Given the description of an element on the screen output the (x, y) to click on. 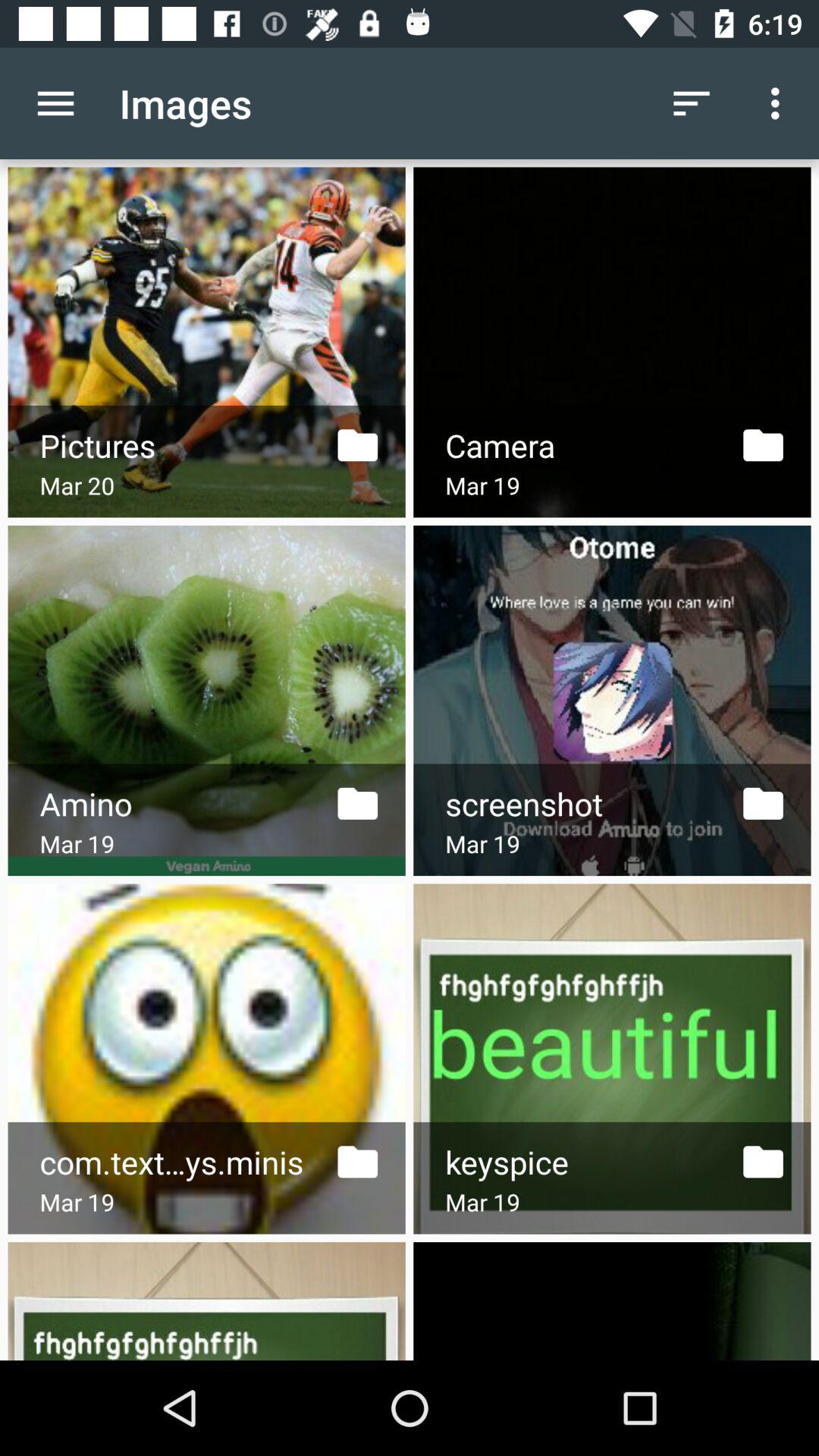
tap the item to the right of the images (691, 103)
